Given the description of an element on the screen output the (x, y) to click on. 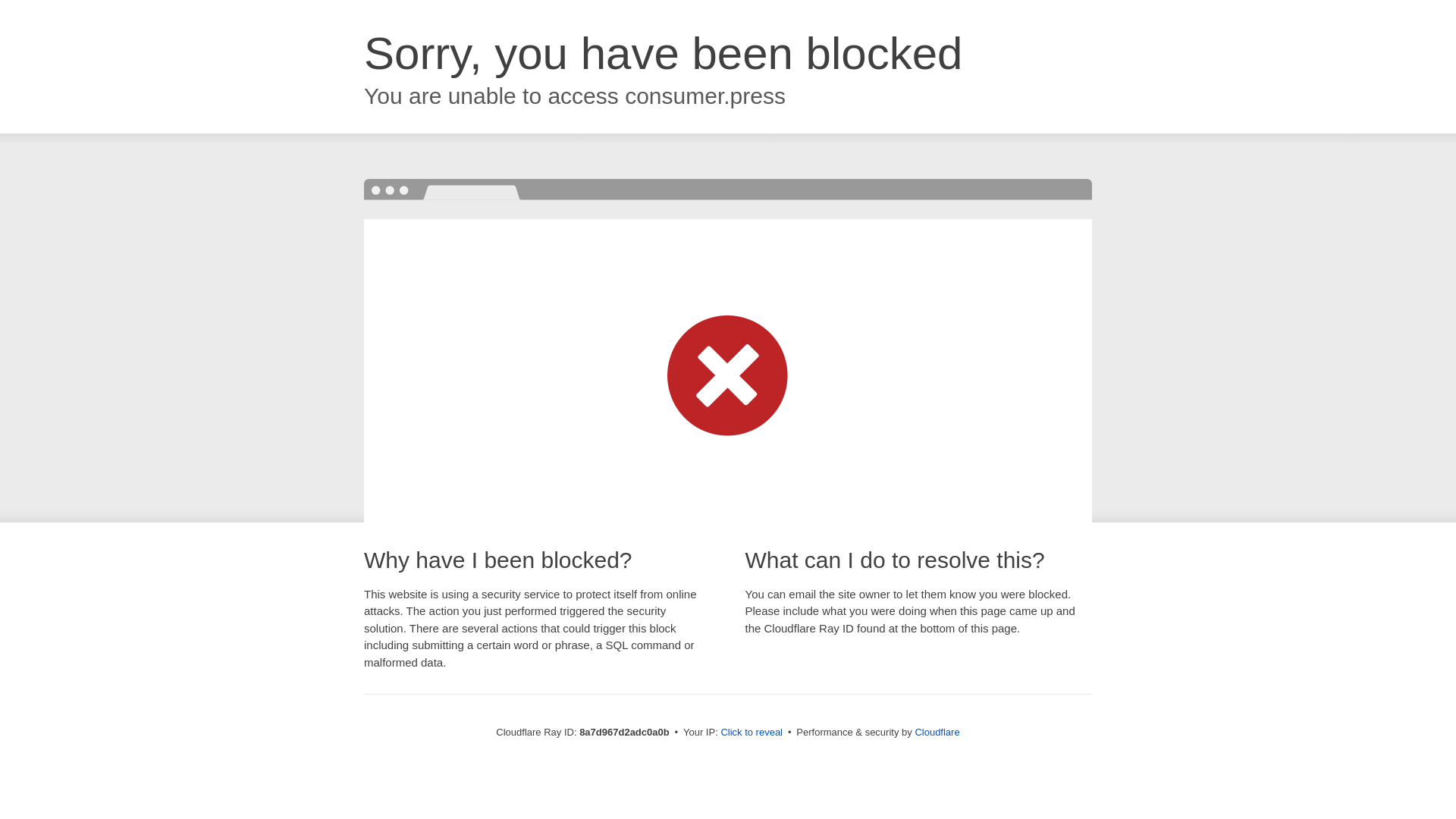
Click to reveal (751, 732)
Cloudflare (936, 731)
